Given the description of an element on the screen output the (x, y) to click on. 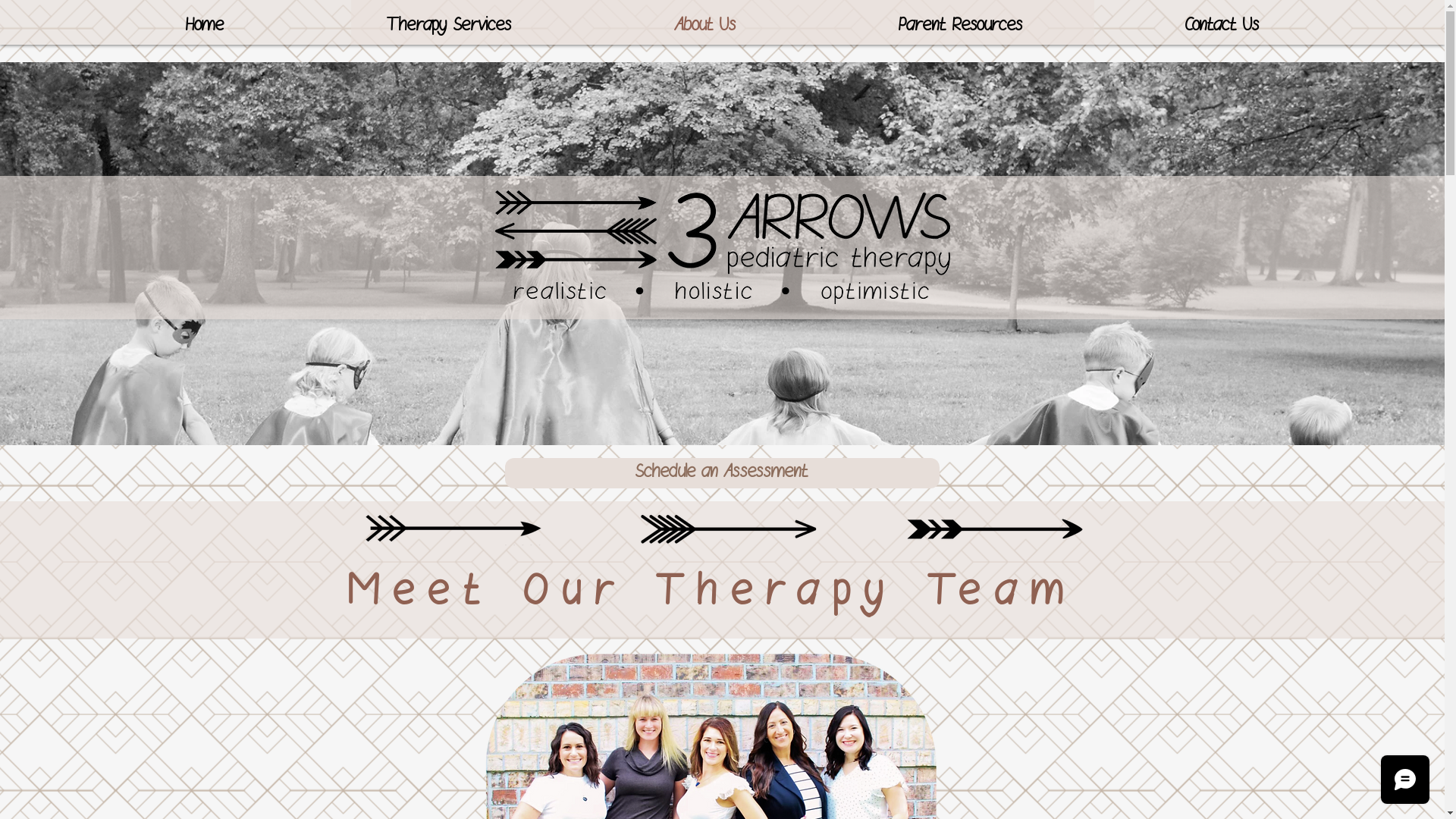
3Arrows-Vrt-RHO_edited.png Element type: hover (721, 247)
Therapy Services Element type: text (449, 26)
Parent Resources Element type: text (960, 26)
Home Element type: text (204, 26)
About Us Element type: text (705, 26)
Schedule an Assessment Element type: text (722, 473)
Contact Us Element type: text (1221, 26)
